Given the description of an element on the screen output the (x, y) to click on. 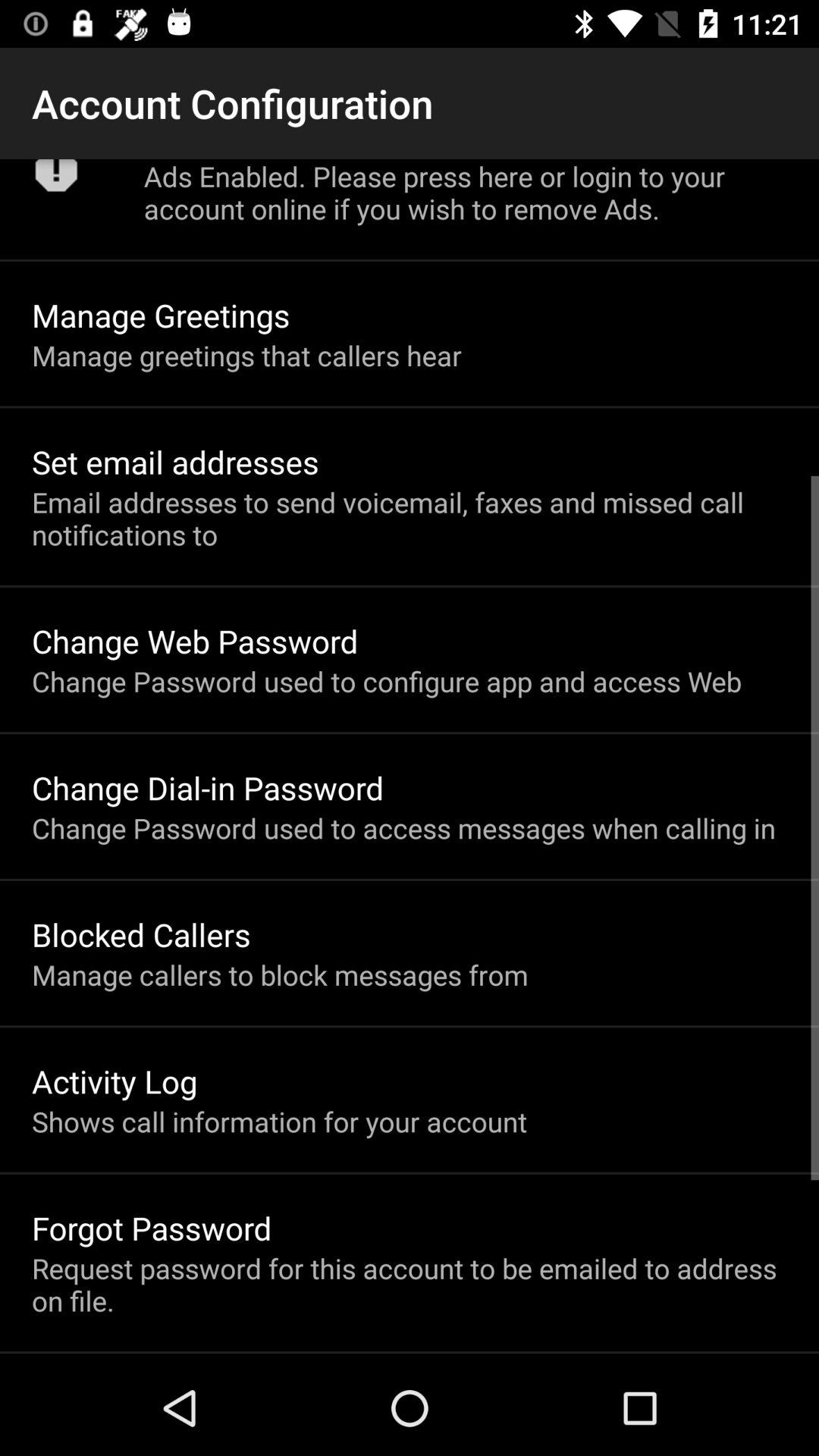
swipe until request password for icon (409, 1284)
